Given the description of an element on the screen output the (x, y) to click on. 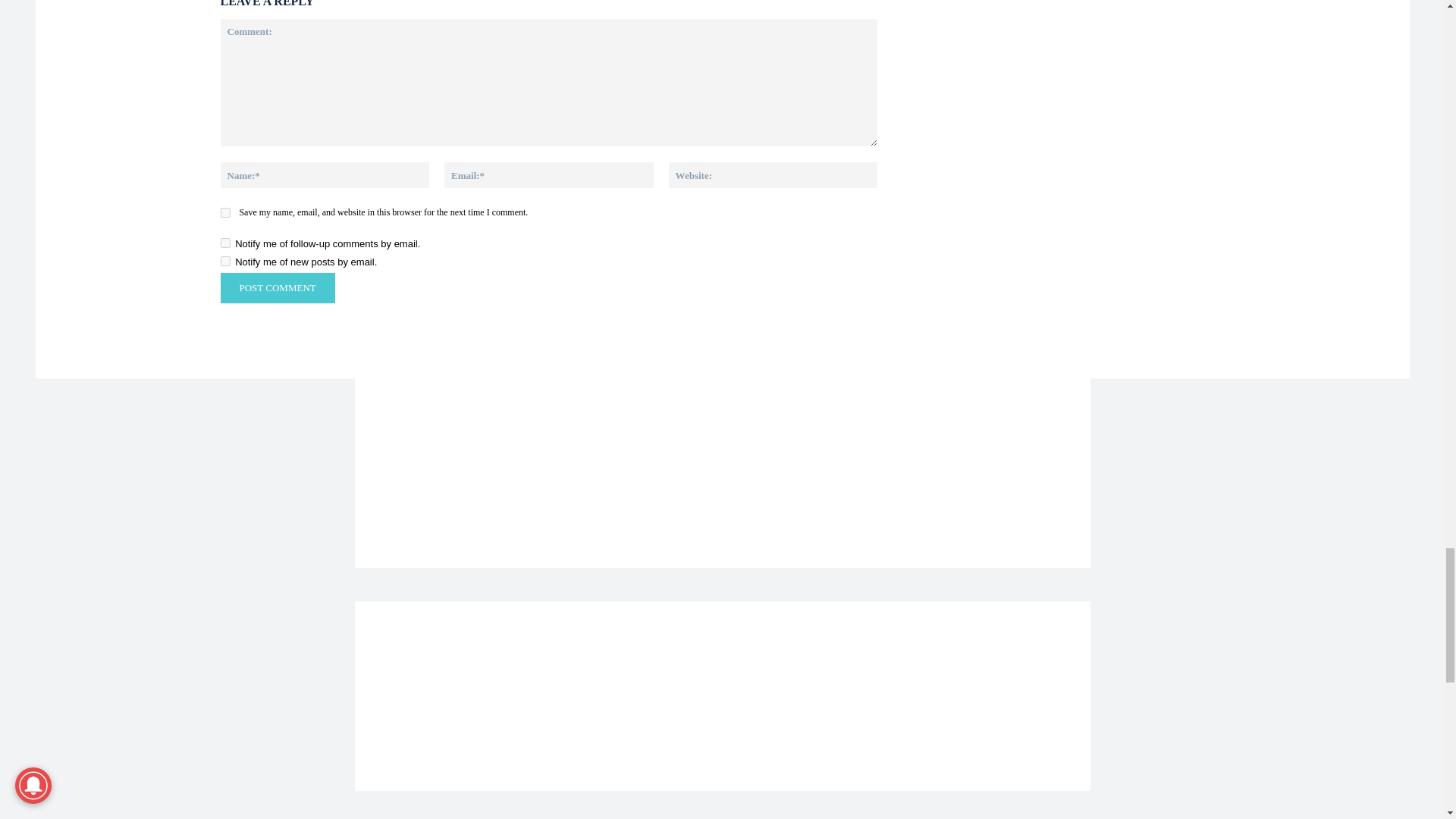
yes (224, 212)
subscribe (224, 261)
Post Comment (276, 287)
subscribe (224, 243)
